Given the description of an element on the screen output the (x, y) to click on. 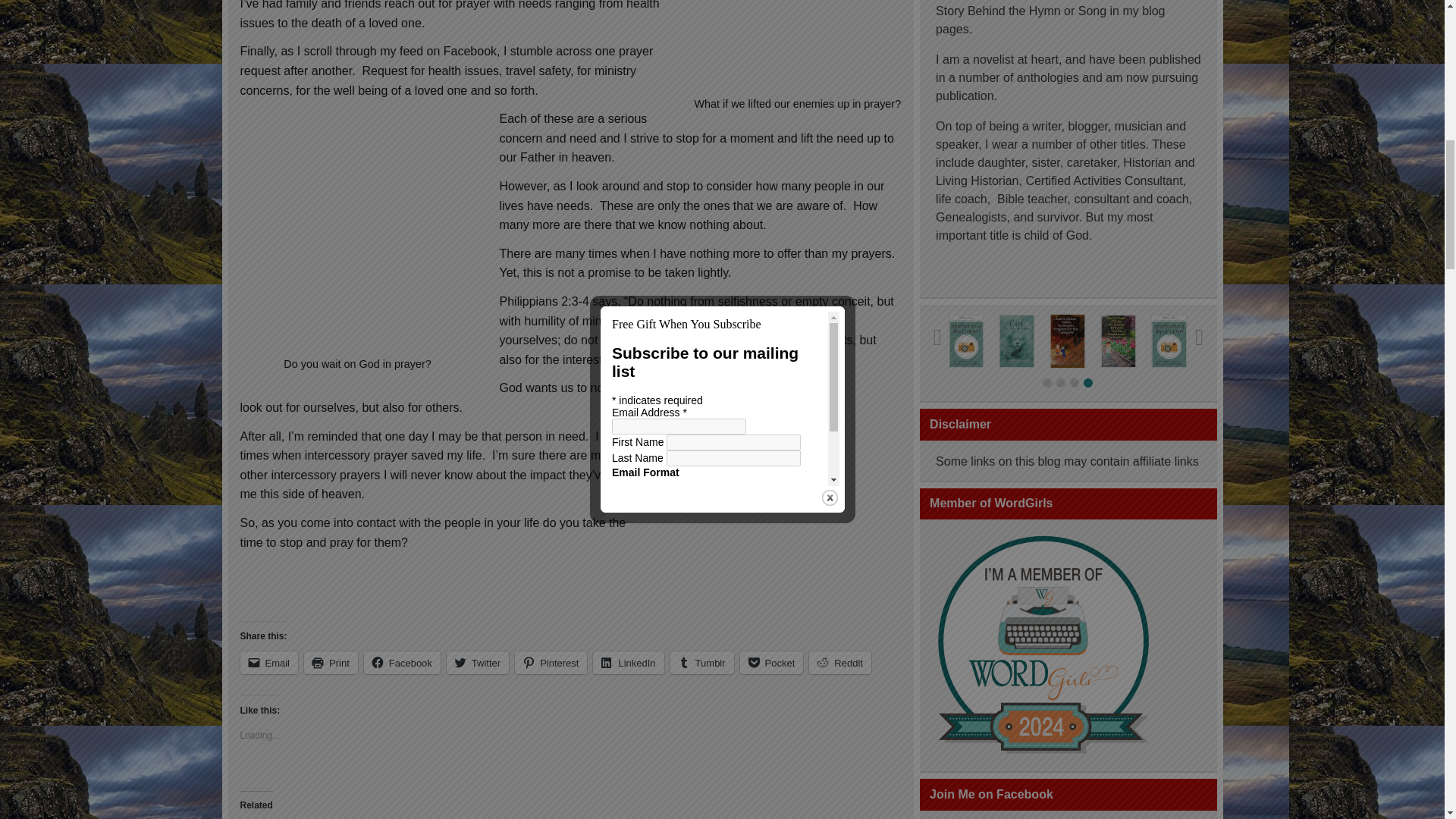
Click to email a link to a friend (269, 662)
Click to share on Pocket (771, 662)
Click to share on Twitter (477, 662)
Click to share on Reddit (839, 662)
Click to share on Facebook (402, 662)
Click to share on LinkedIn (627, 662)
Click to share on Pinterest (550, 662)
Click to print (331, 662)
Click to share on Tumblr (701, 662)
